Given the description of an element on the screen output the (x, y) to click on. 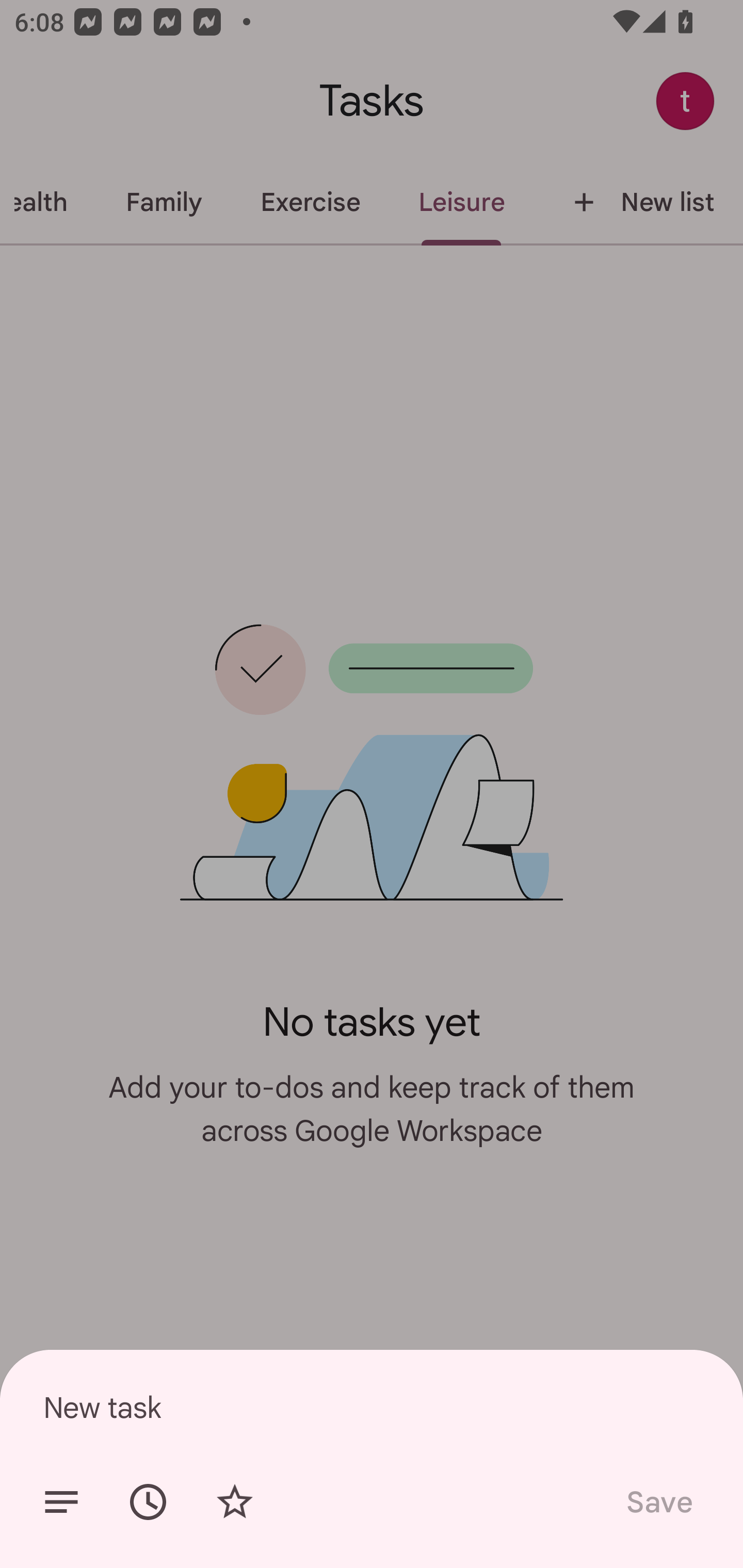
New task (371, 1407)
Save (659, 1501)
Add details (60, 1501)
Set date/time (147, 1501)
Add star (234, 1501)
